Given the description of an element on the screen output the (x, y) to click on. 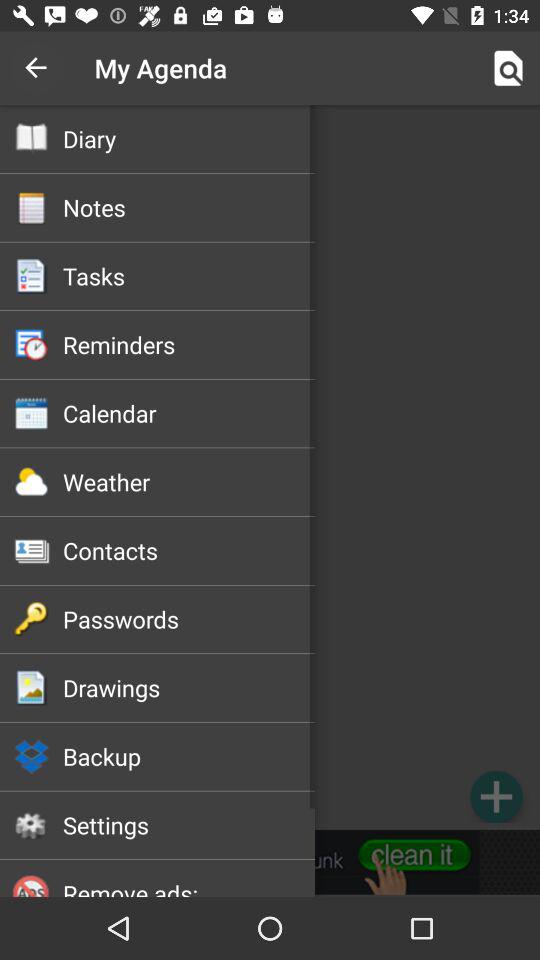
flip to weather (188, 482)
